Given the description of an element on the screen output the (x, y) to click on. 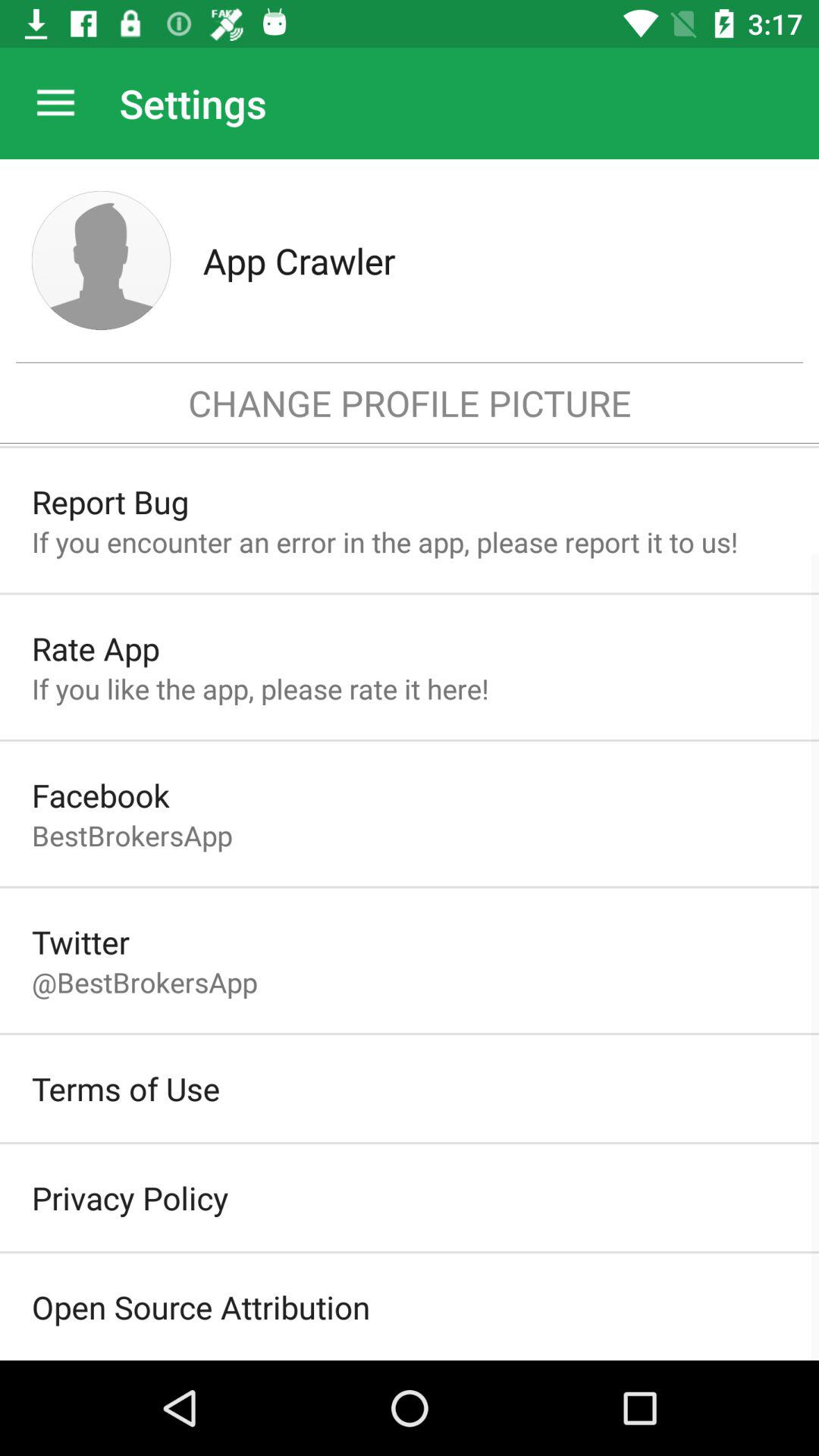
choose the item above the @bestbrokersapp item (80, 941)
